Given the description of an element on the screen output the (x, y) to click on. 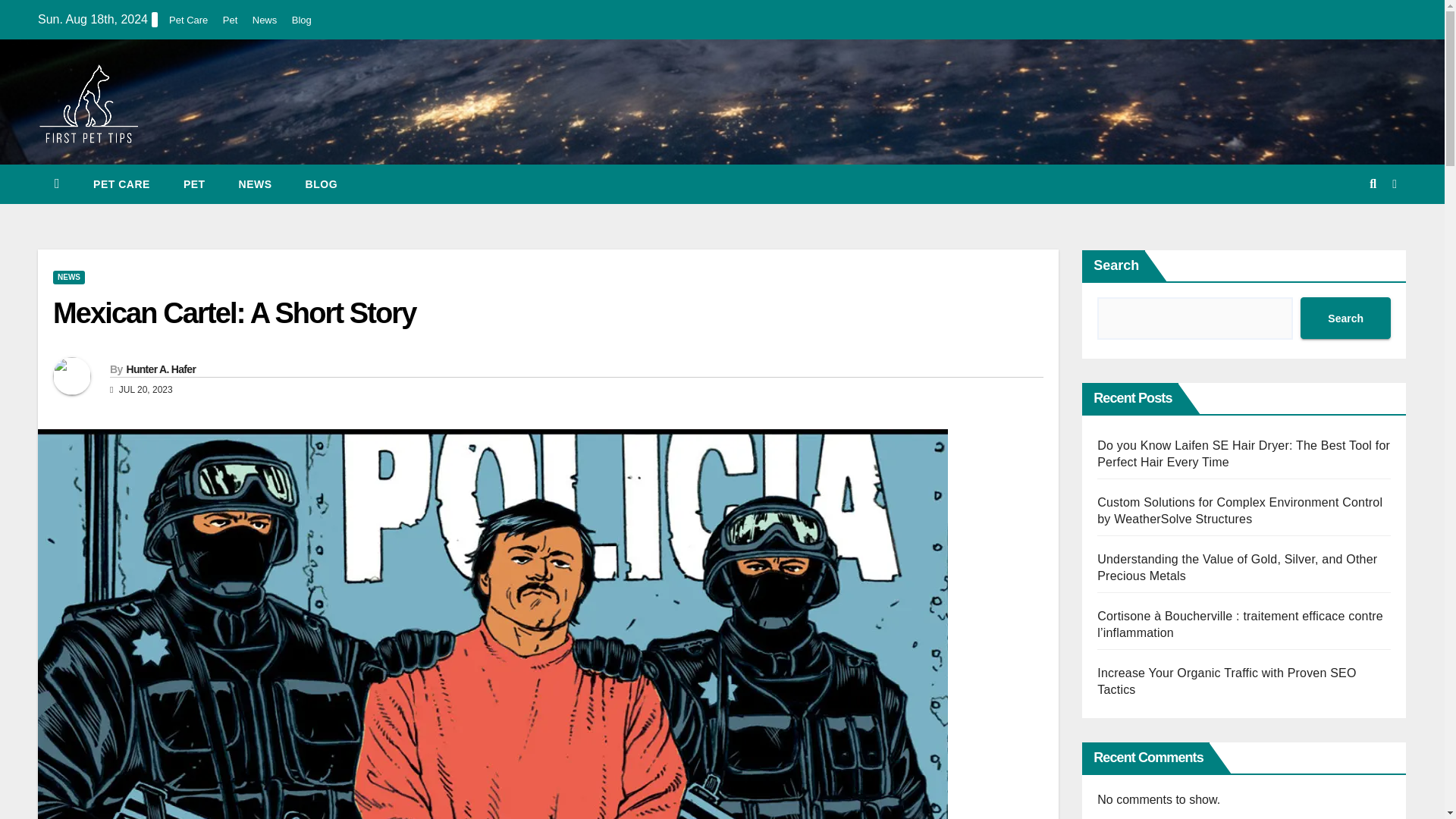
Pet Care (122, 183)
NEWS (68, 277)
Hunter A. Hafer (160, 369)
Mexican Cartel: A Short Story (233, 313)
Pet (194, 183)
PET CARE (122, 183)
Pet (230, 19)
Blog (301, 19)
BLOG (320, 183)
Pet Care (188, 19)
